Given the description of an element on the screen output the (x, y) to click on. 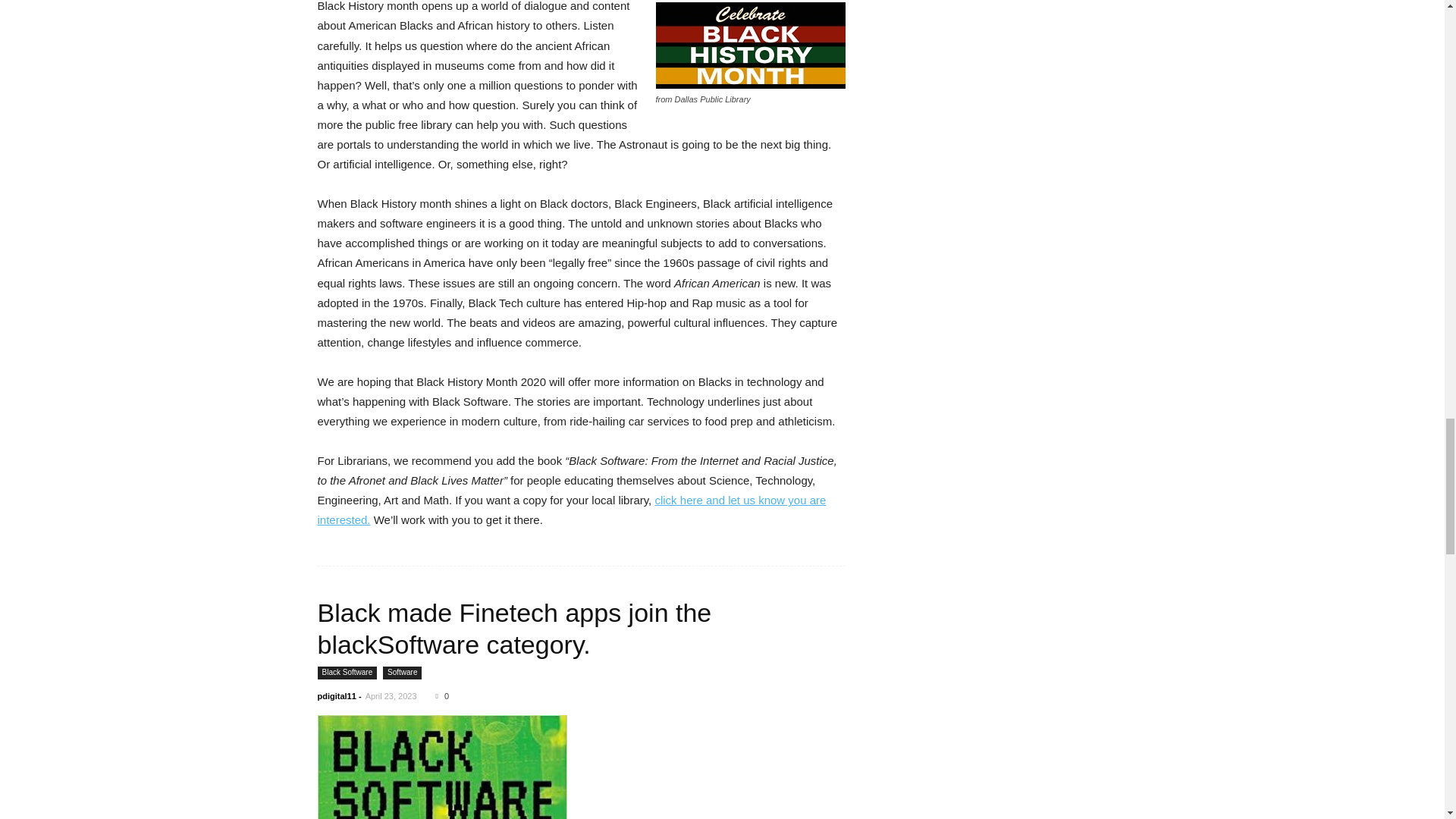
Black made Finetech apps join the blackSoftware category. (441, 766)
Black made Finetech apps join the blackSoftware category. (514, 628)
Black made Finetech apps join the blackSoftware category. (580, 766)
